Given the description of an element on the screen output the (x, y) to click on. 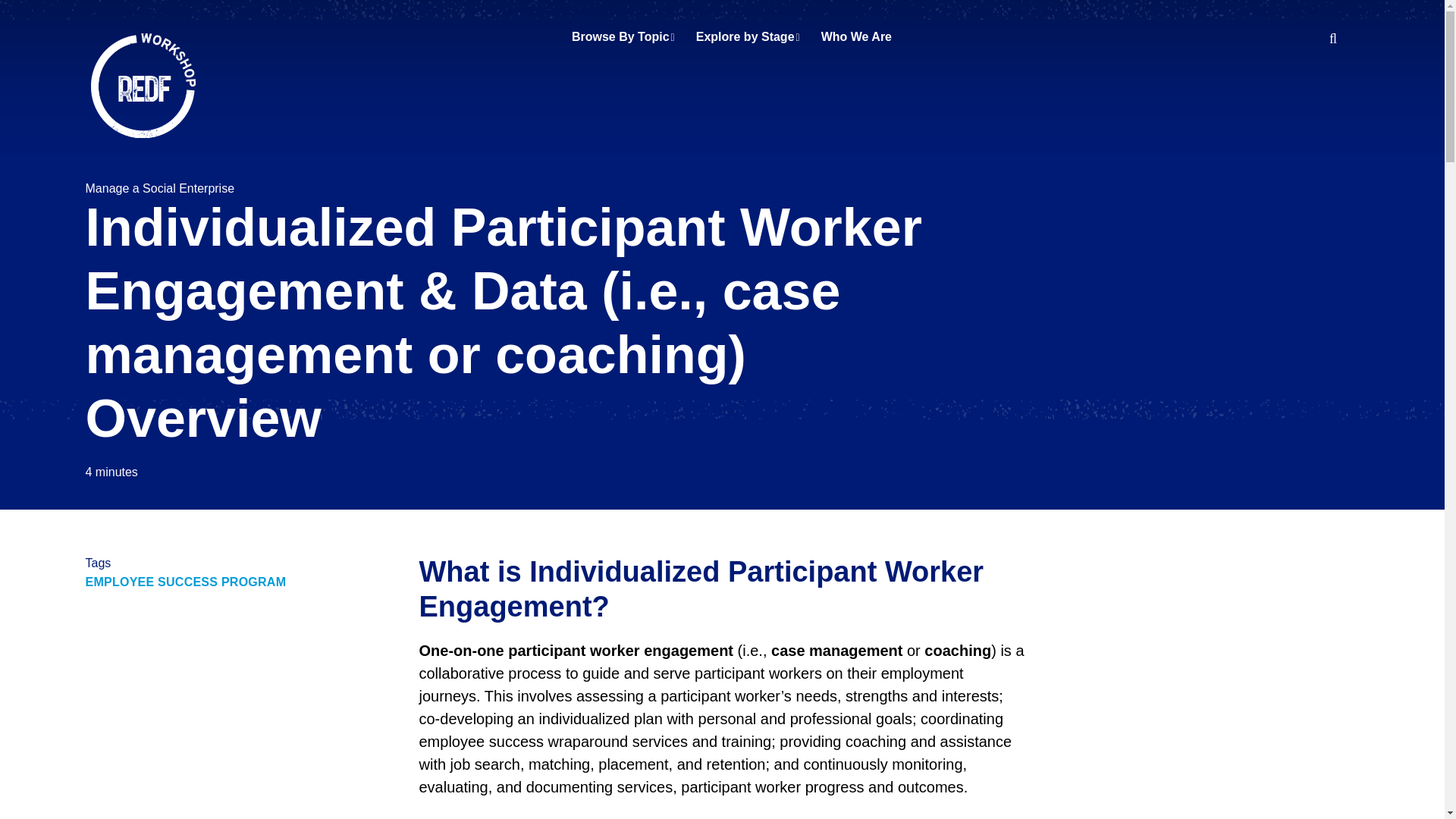
Who We Are (855, 36)
REDF Workshop (142, 86)
Browse By Topic (623, 36)
Explore by Stage (748, 36)
EMPLOYEE SUCCESS PROGRAM (184, 581)
